Given the description of an element on the screen output the (x, y) to click on. 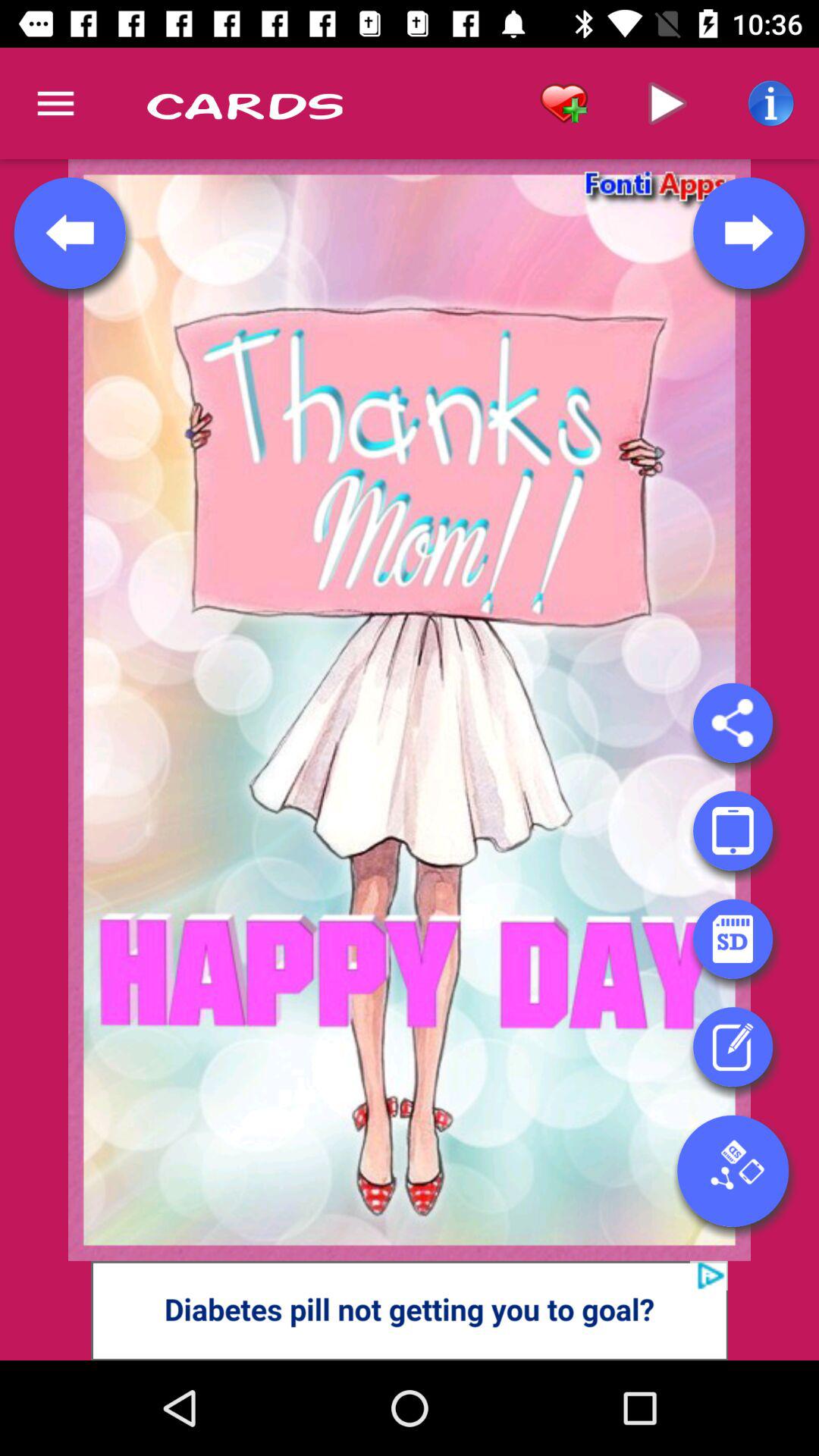
open sd card (733, 938)
